Given the description of an element on the screen output the (x, y) to click on. 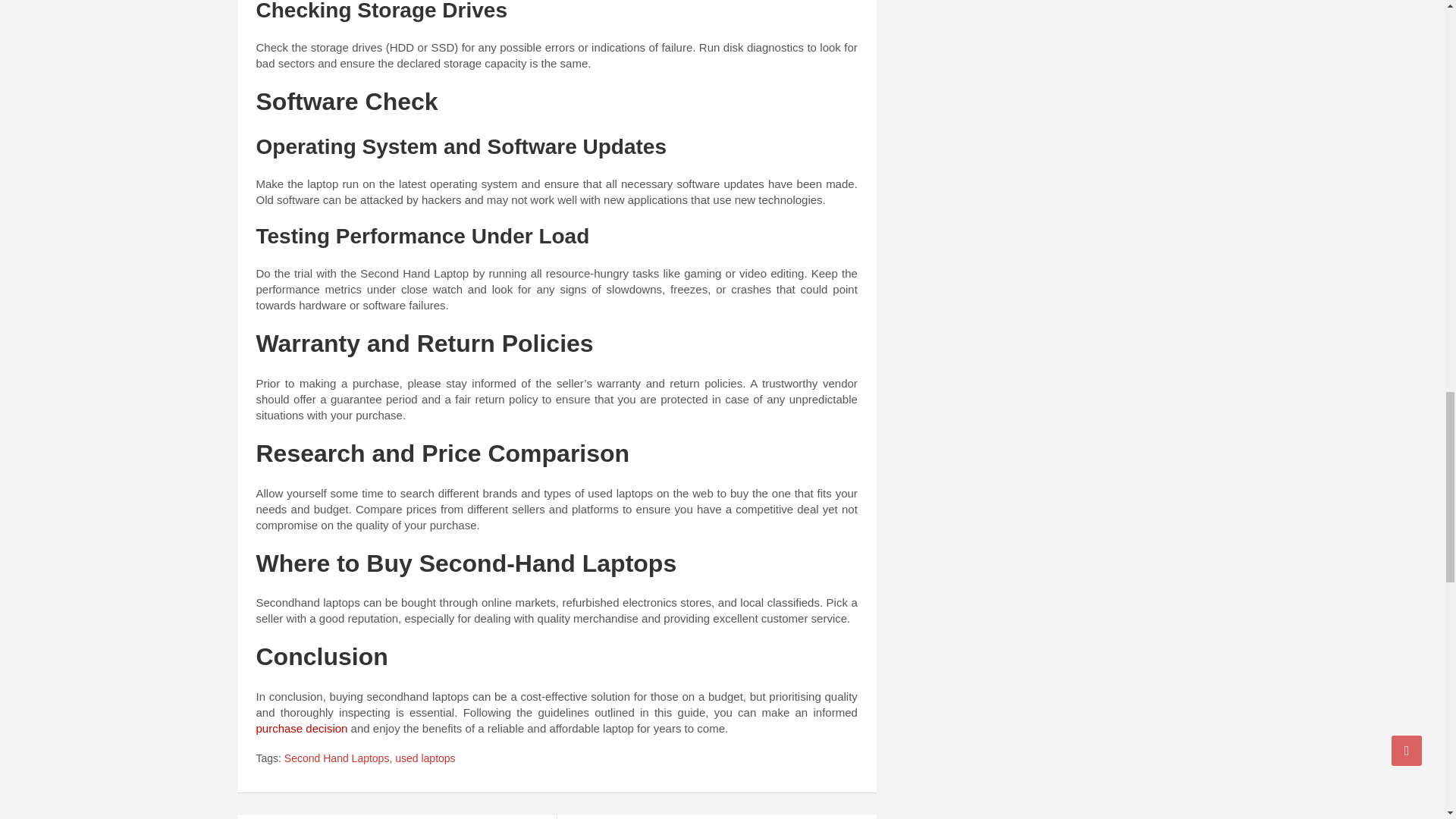
What is Chatgbt AI Tool? (395, 816)
Second Hand Laptops (336, 758)
used laptops (424, 758)
purchase decision (301, 727)
